Given the description of an element on the screen output the (x, y) to click on. 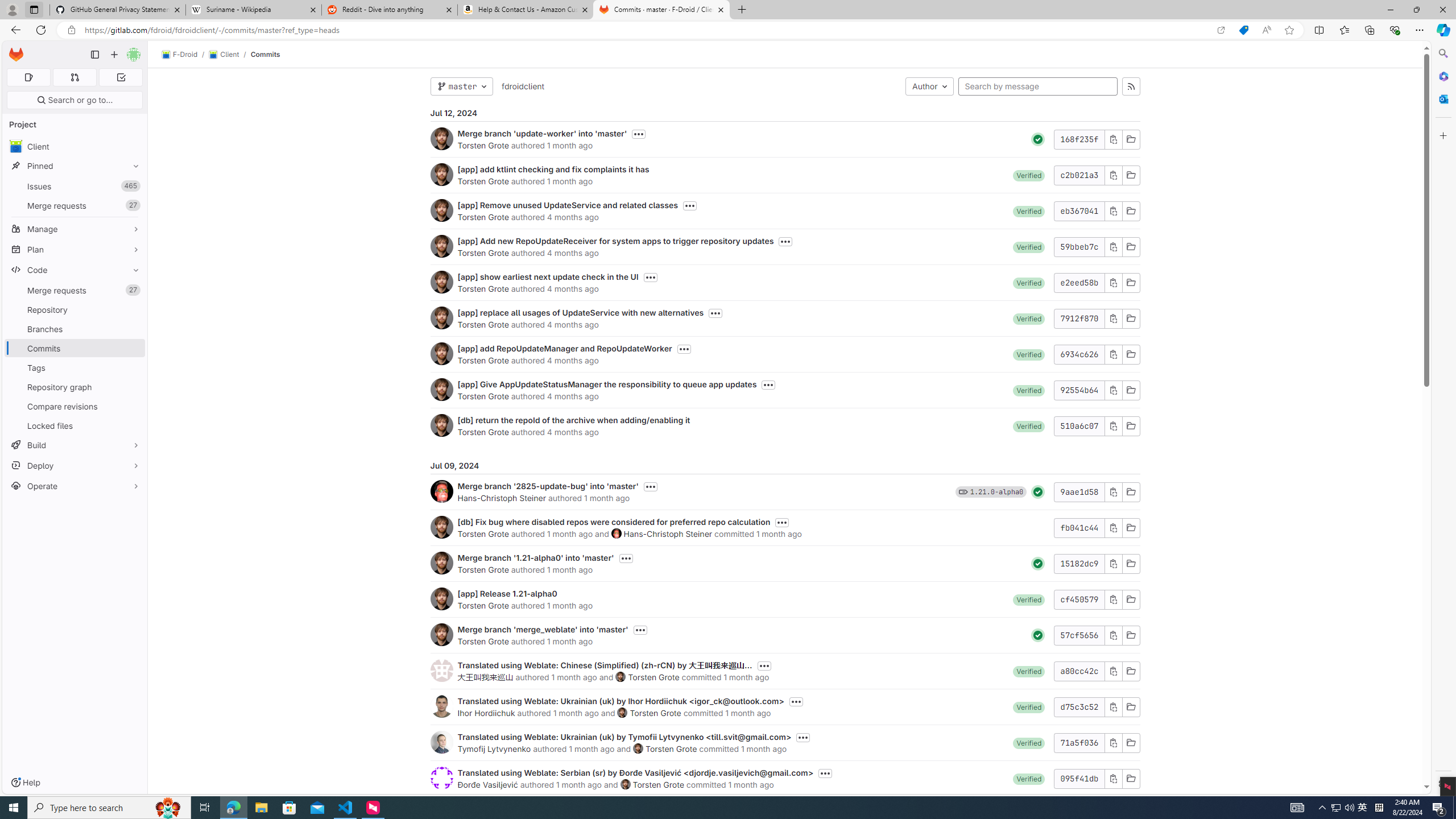
Verified (1029, 778)
Pin Branches (132, 328)
Plan (74, 248)
Locked files (74, 425)
Tymofij Lytvynenko (494, 748)
Operate (74, 485)
Merge branch '2825-update-bug' into 'master' (548, 485)
Tymofij Lytvynenko's avatar (440, 741)
Hans-Christoph Steiner's avatar (616, 533)
[app] Remove unused UpdateService and related classes (567, 204)
